Given the description of an element on the screen output the (x, y) to click on. 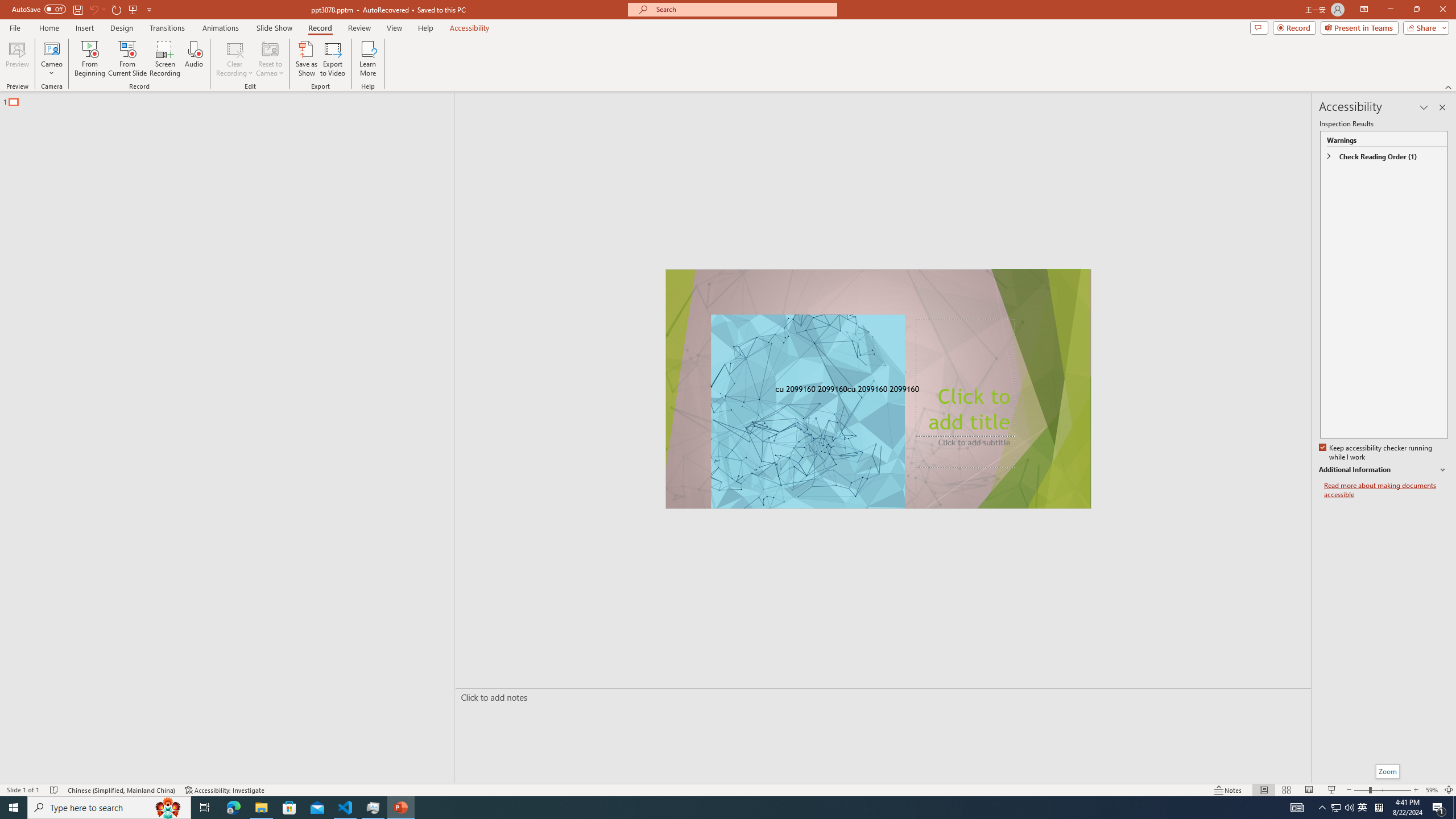
Visual Studio Code (32, 335)
edit (1405, 481)
2301.12597v3.pdf (1405, 178)
Poe (98, 178)
